Given the description of an element on the screen output the (x, y) to click on. 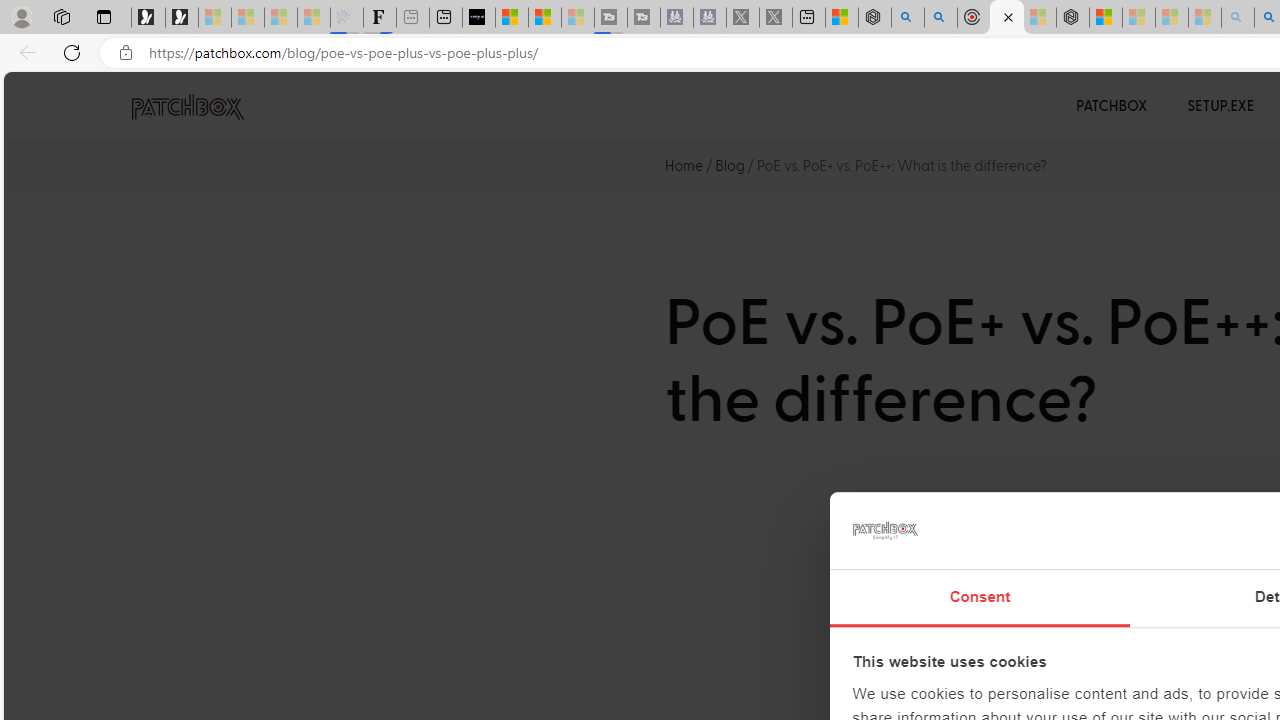
PATCHBOX (1111, 106)
Consent (979, 598)
PATCHBOX Simplify IT (200, 106)
PATCHBOX (1111, 106)
